Given the description of an element on the screen output the (x, y) to click on. 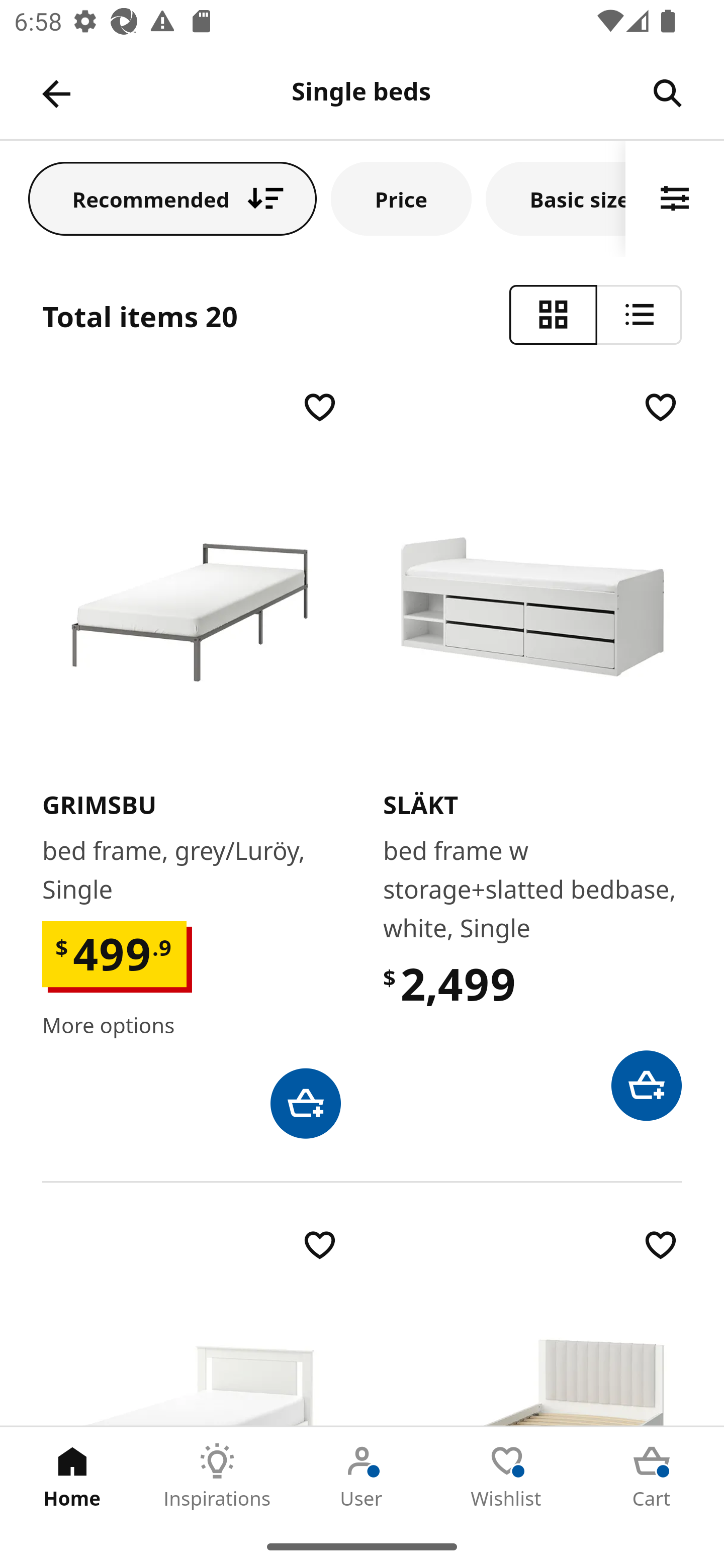
Recommended (172, 198)
Price (400, 198)
Basic sizes (555, 198)
Home
Tab 1 of 5 (72, 1476)
Inspirations
Tab 2 of 5 (216, 1476)
User
Tab 3 of 5 (361, 1476)
Wishlist
Tab 4 of 5 (506, 1476)
Cart
Tab 5 of 5 (651, 1476)
